Given the description of an element on the screen output the (x, y) to click on. 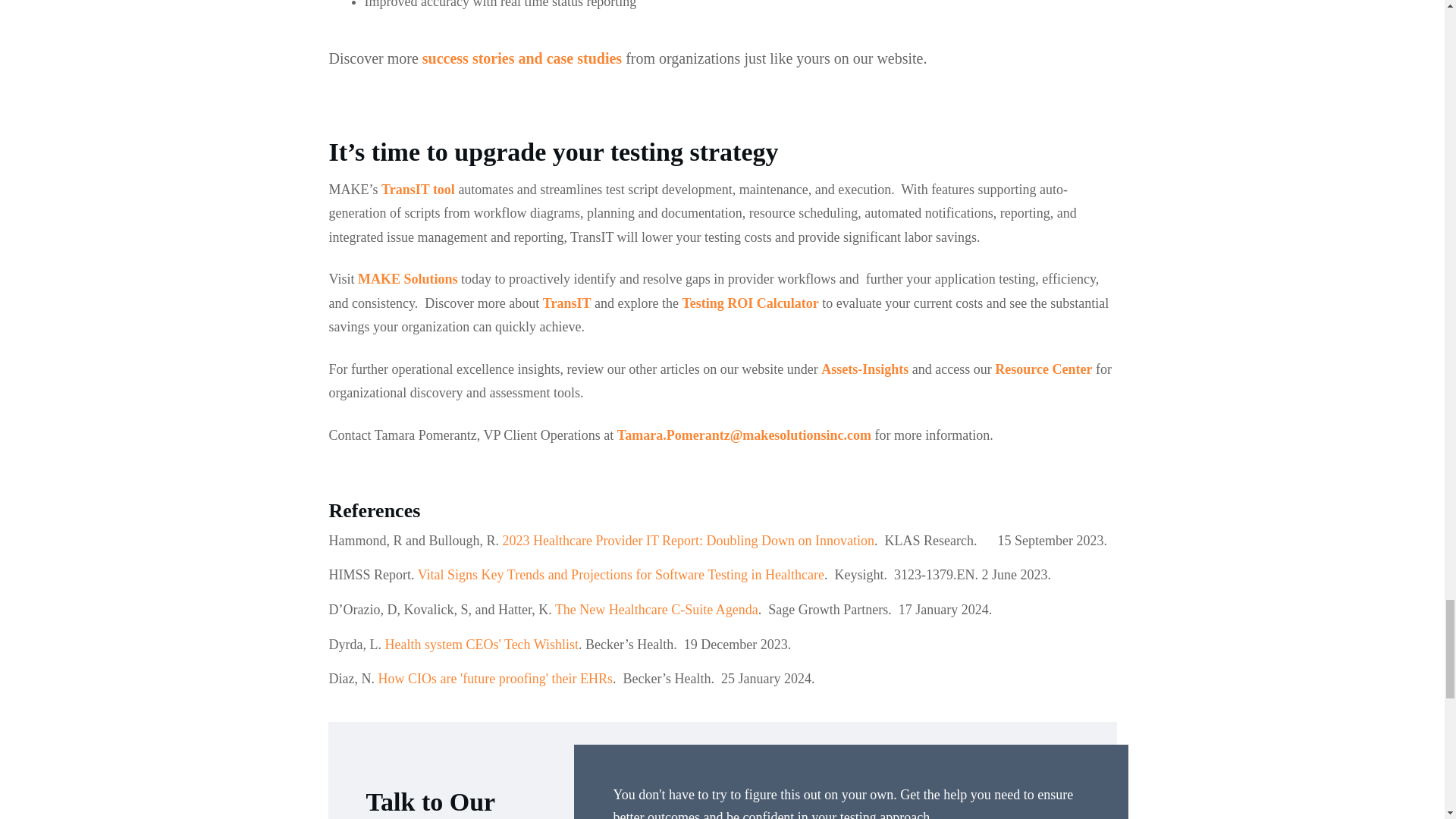
TransIT (567, 303)
Assets-Insights (864, 368)
success stories and case studies (521, 57)
Health system CEOs' Tech Wishlist (481, 644)
The New Healthcare C-Suite Agenda (656, 609)
Testing ROI Calculator (749, 303)
How CIOs are 'future proofing' their EHRs (494, 678)
MAKE Solutions (408, 278)
TransIT tool (417, 189)
Resource Center (1043, 368)
